Given the description of an element on the screen output the (x, y) to click on. 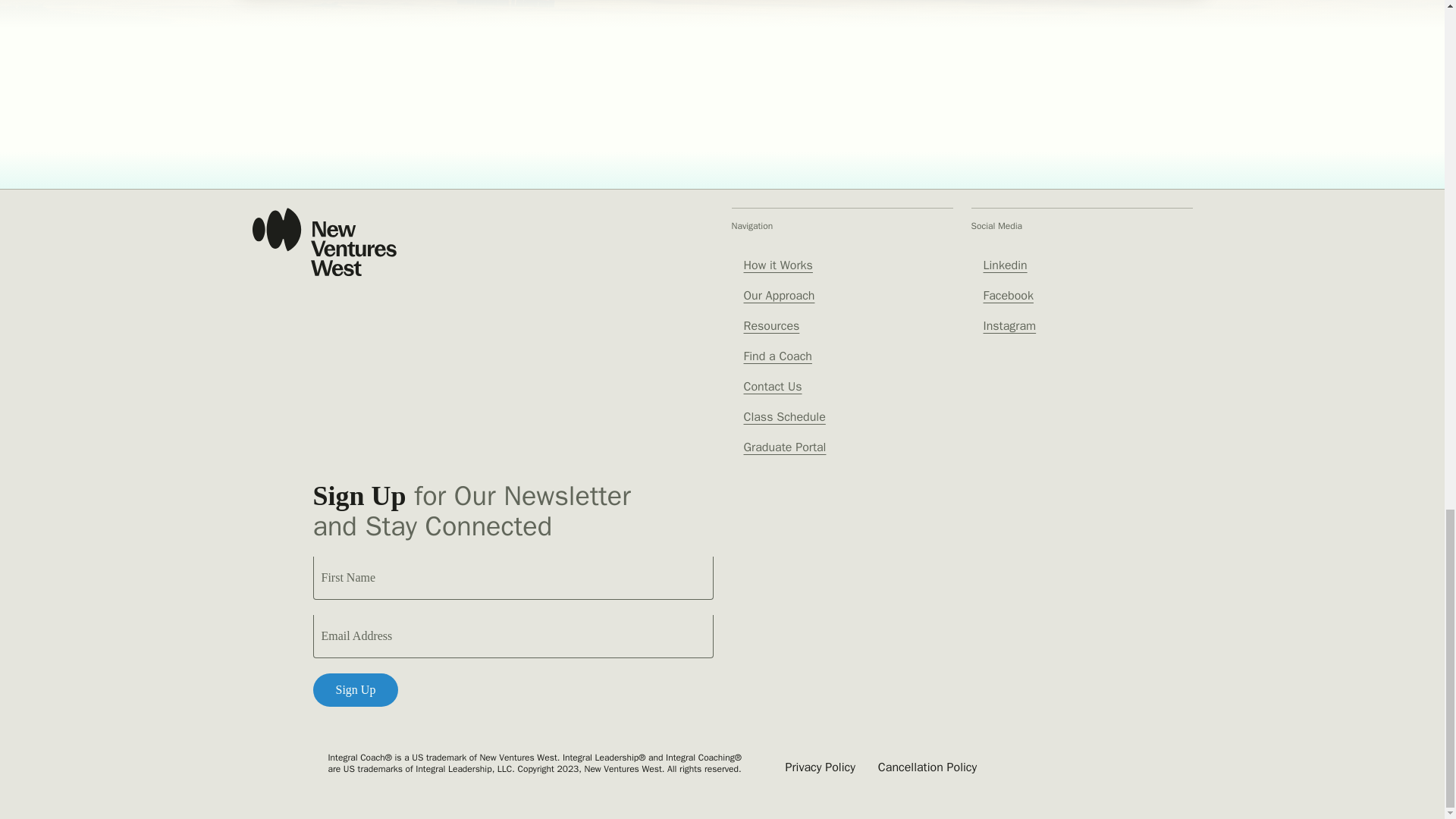
Instagram (1008, 325)
Sign Up (355, 689)
Our Approach (777, 295)
Contact Us (772, 386)
Resources (770, 325)
Find a Coach (776, 355)
Class Schedule (783, 417)
How it Works (777, 264)
Facebook (1007, 295)
Linkedin (1004, 264)
